Given the description of an element on the screen output the (x, y) to click on. 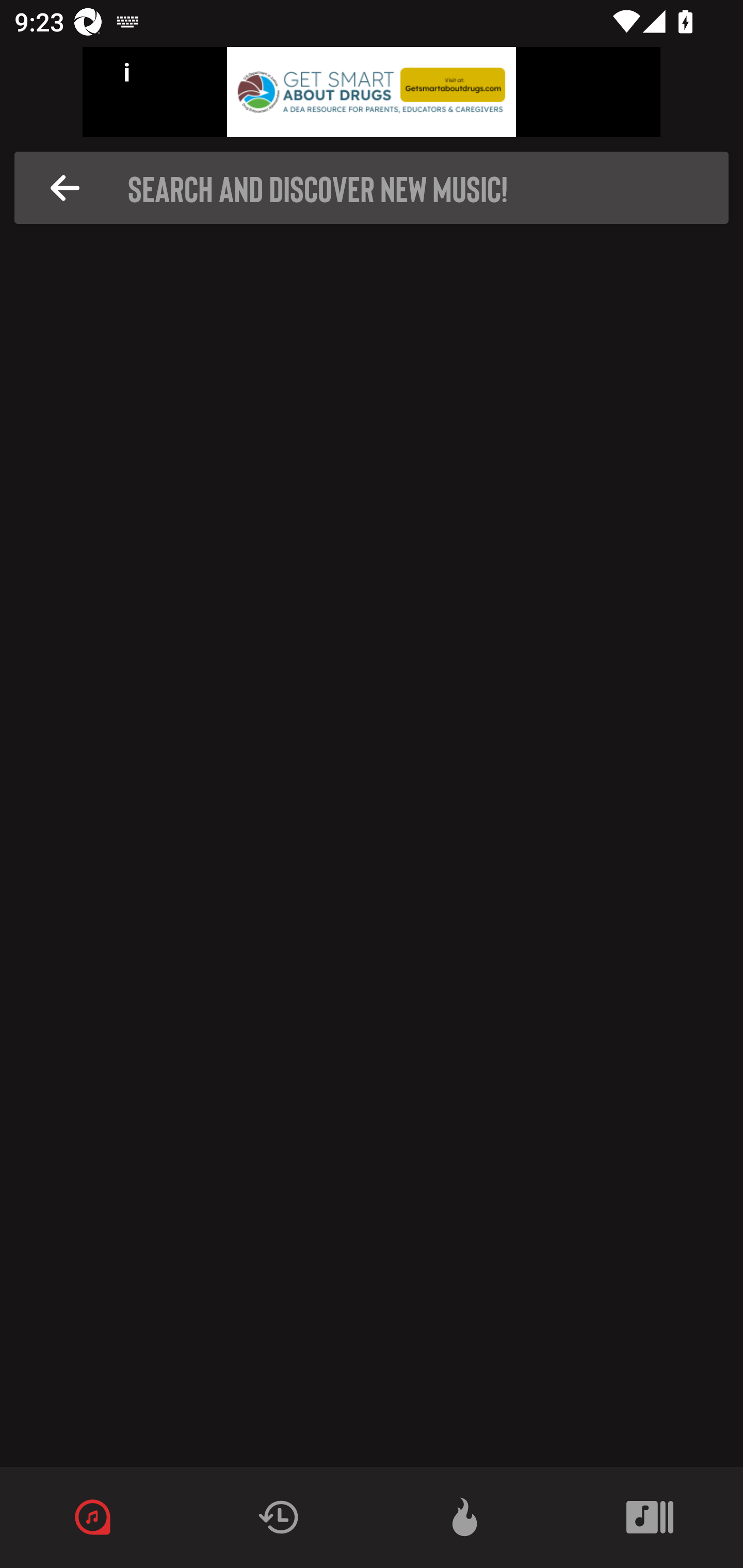
SEARCH AND DISCOVER NEW MUSIC! (377, 188)
Description (64, 188)
